Given the description of an element on the screen output the (x, y) to click on. 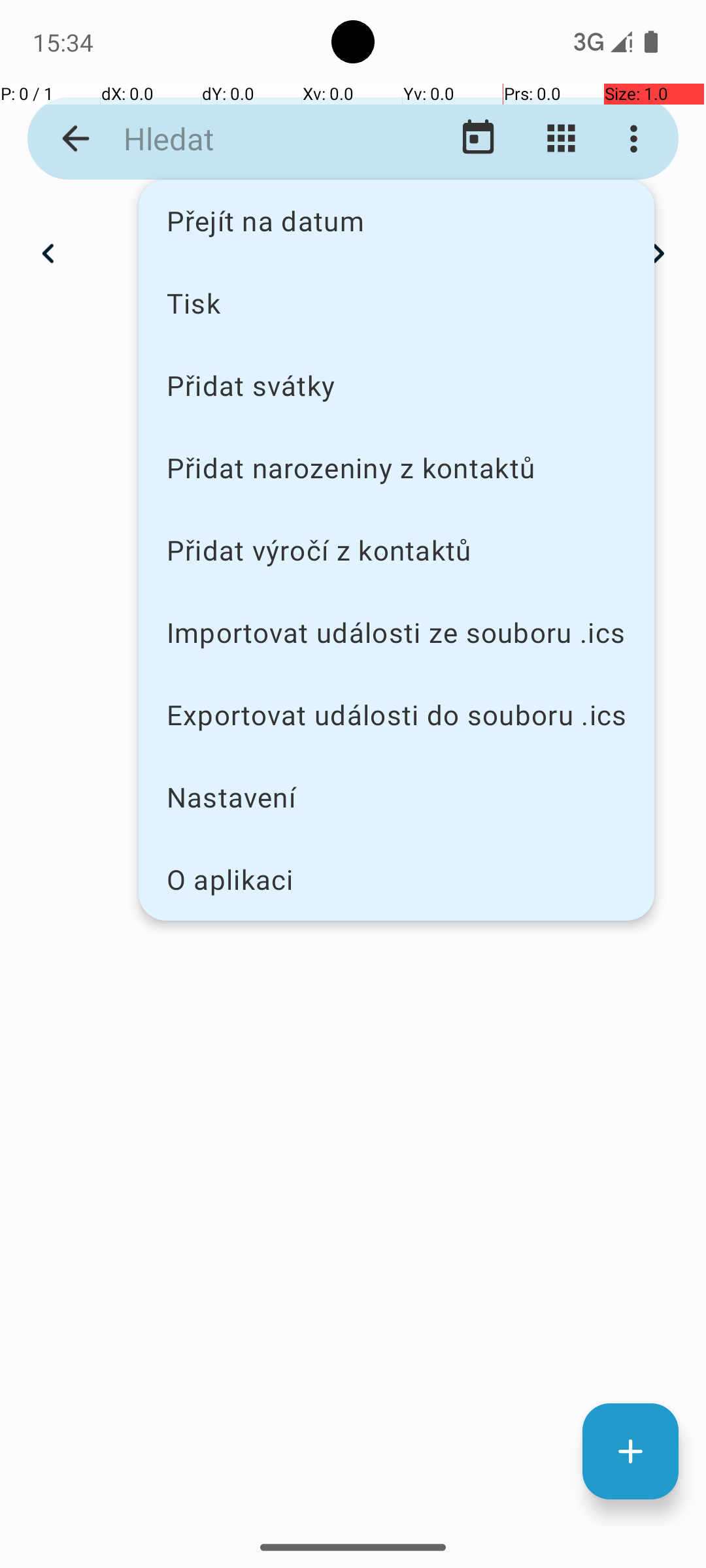
Přejít na datum Element type: android.widget.TextView (396, 220)
Tisk Element type: android.widget.TextView (396, 302)
Přidat svátky Element type: android.widget.TextView (396, 384)
Přidat narozeniny z kontaktů Element type: android.widget.TextView (396, 467)
Přidat výročí z kontaktů Element type: android.widget.TextView (396, 549)
Importovat události ze souboru .ics Element type: android.widget.TextView (396, 631)
Exportovat události do souboru .ics Element type: android.widget.TextView (396, 714)
Nastavení Element type: android.widget.TextView (396, 796)
O aplikaci Element type: android.widget.TextView (396, 878)
